Given the description of an element on the screen output the (x, y) to click on. 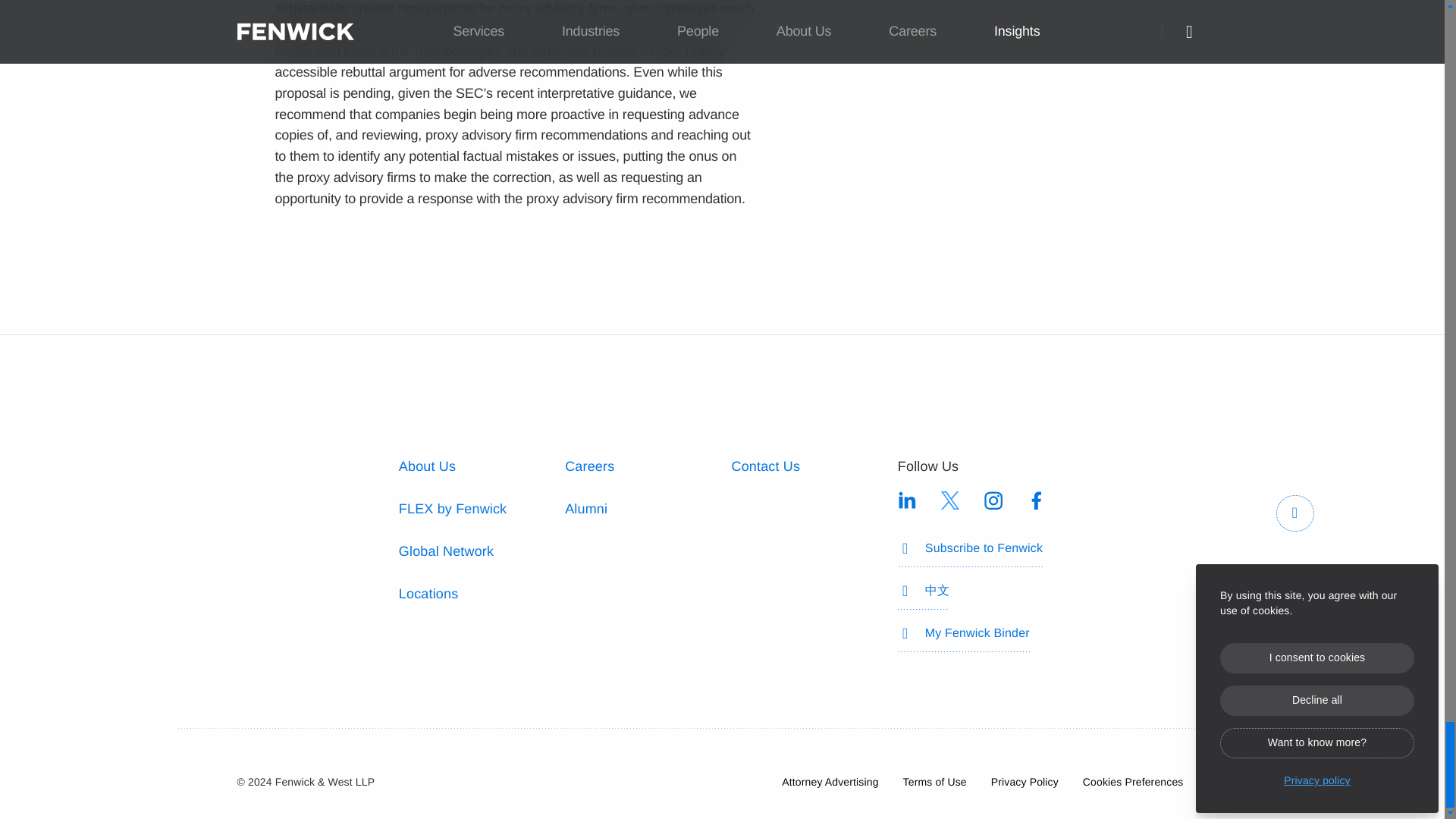
Global Network (445, 550)
Contact Us (764, 466)
Careers (589, 466)
Locations (428, 593)
FLEX by Fenwick (452, 508)
Alumni (585, 508)
About Us (426, 466)
